Given the description of an element on the screen output the (x, y) to click on. 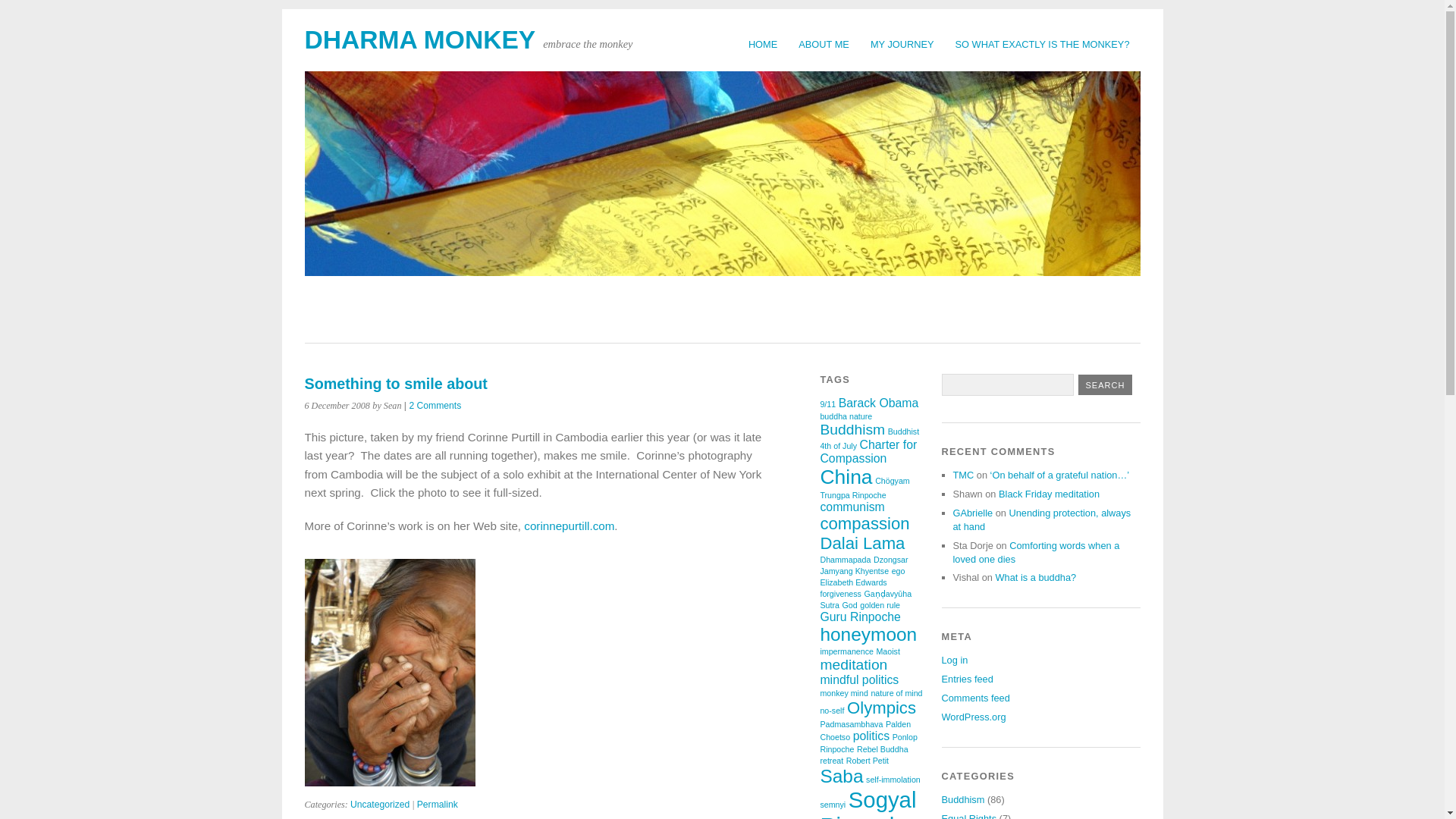
forgiveness (840, 593)
Charter for Compassion (868, 451)
Maoist (887, 651)
impermanence (845, 651)
Dzongsar Jamyang Khyentse (863, 565)
ABOUT ME (823, 43)
God (849, 604)
ego (898, 570)
Permalink (437, 804)
Elizabeth Edwards (852, 582)
Search (1105, 384)
HOME (762, 43)
corinnepurtill.com (569, 525)
compassion (863, 523)
Buddhism (852, 429)
